Given the description of an element on the screen output the (x, y) to click on. 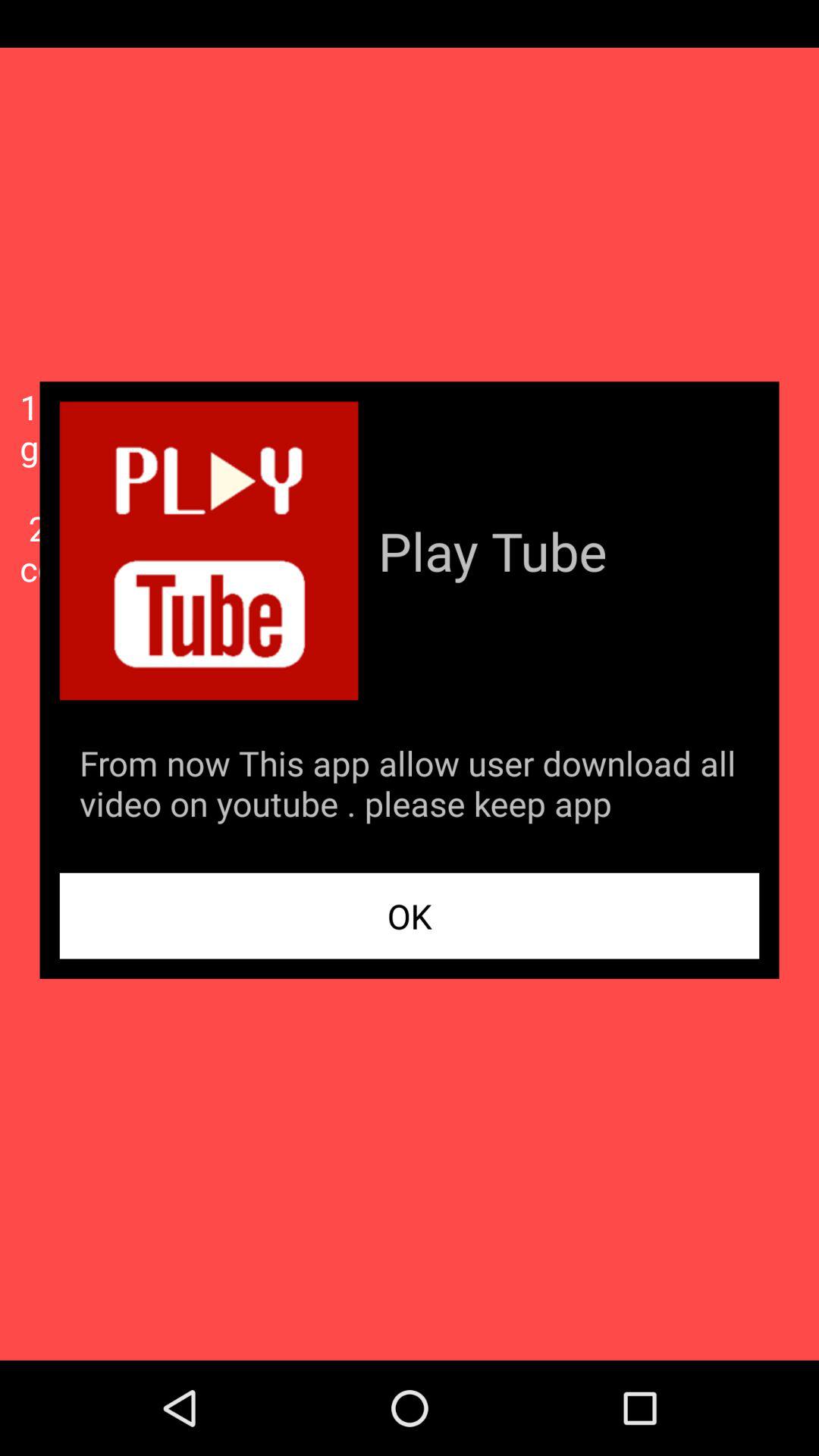
swipe to ok (409, 915)
